Given the description of an element on the screen output the (x, y) to click on. 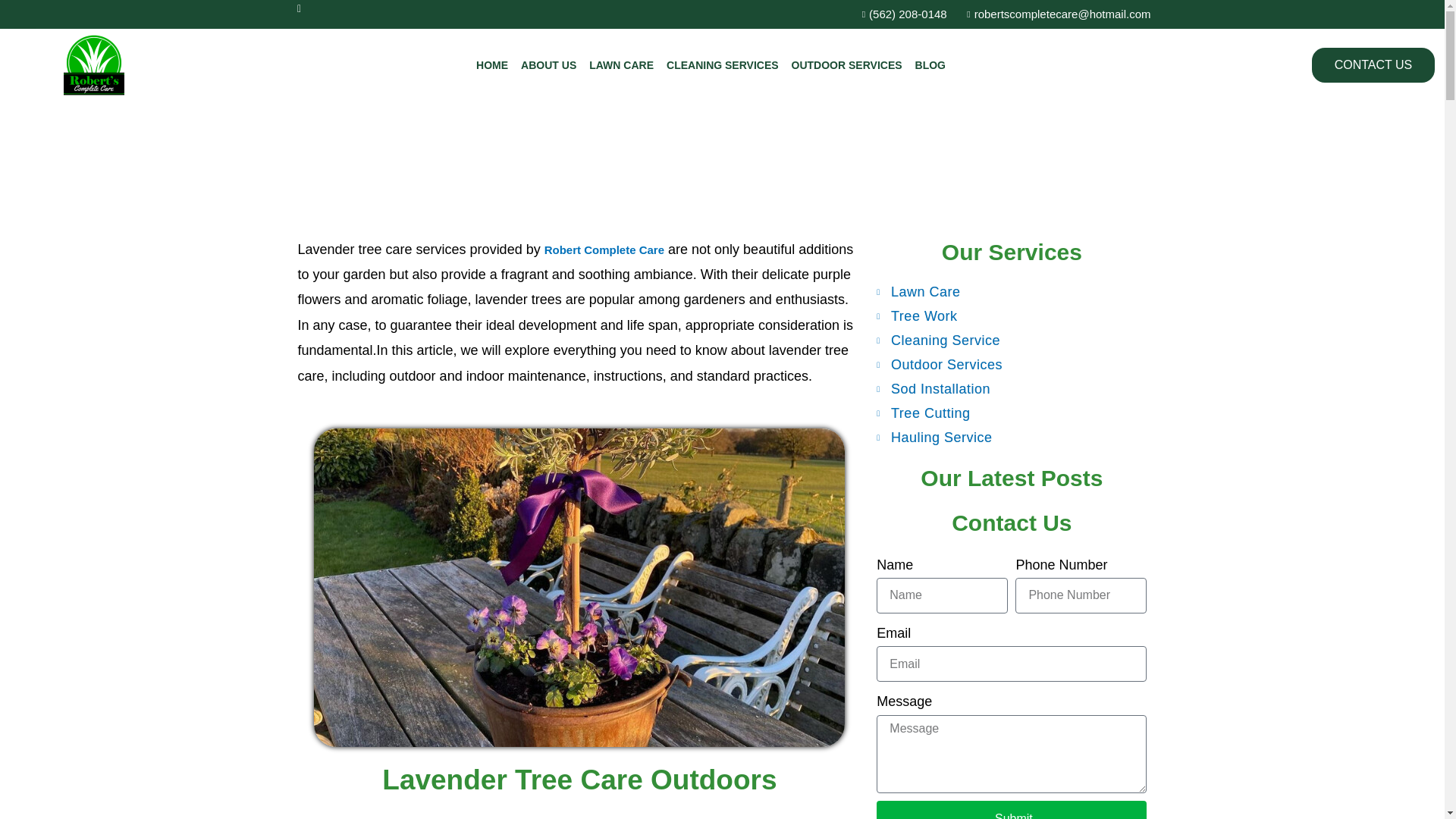
Instagram (304, 14)
HOME (492, 64)
LAWN CARE (621, 64)
CLEANING SERVICES (722, 64)
ABOUT US (548, 64)
OUTDOOR SERVICES (847, 64)
